Given the description of an element on the screen output the (x, y) to click on. 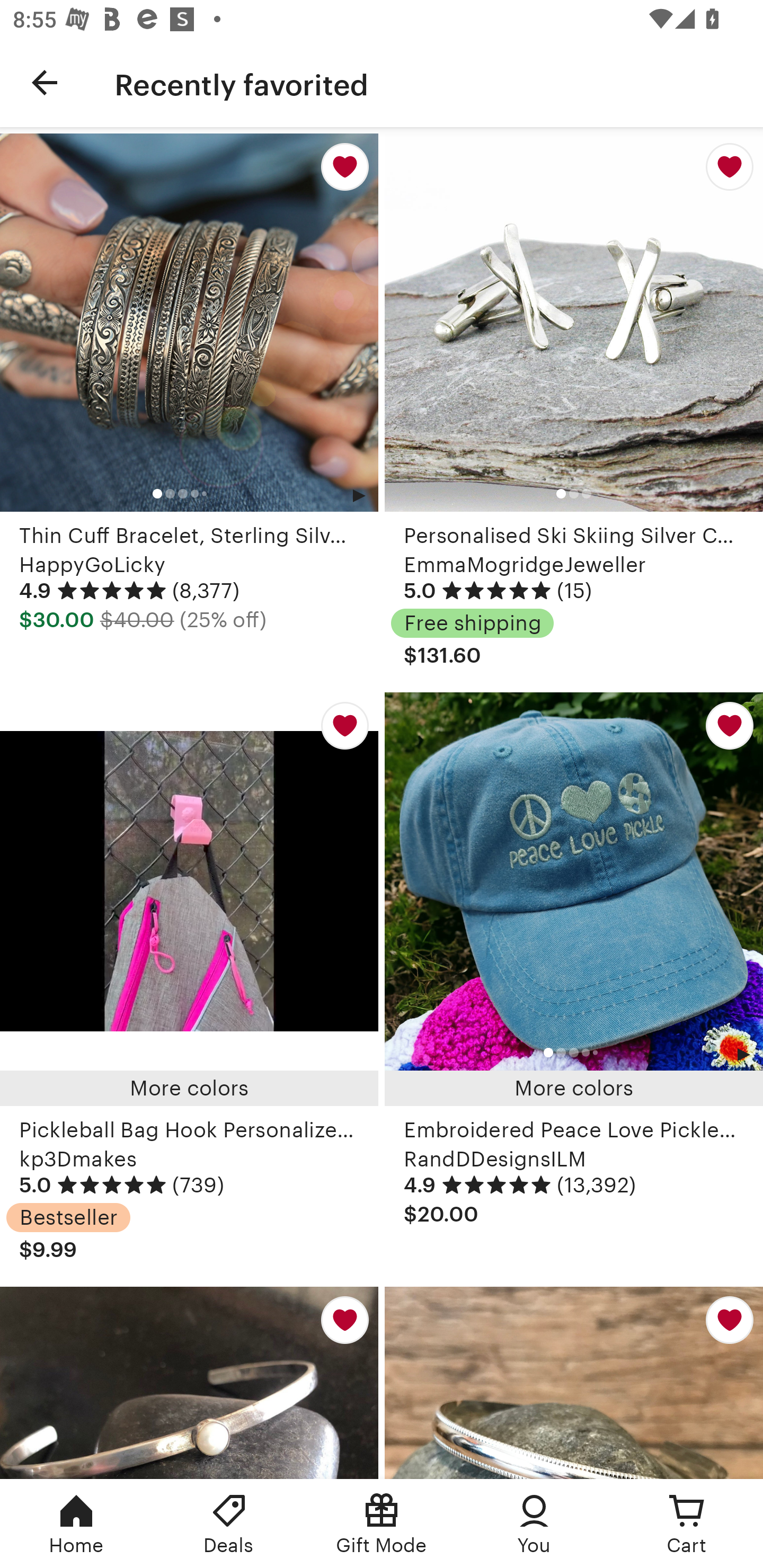
Navigate up (44, 82)
Deals (228, 1523)
Gift Mode (381, 1523)
You (533, 1523)
Cart (686, 1523)
